Given the description of an element on the screen output the (x, y) to click on. 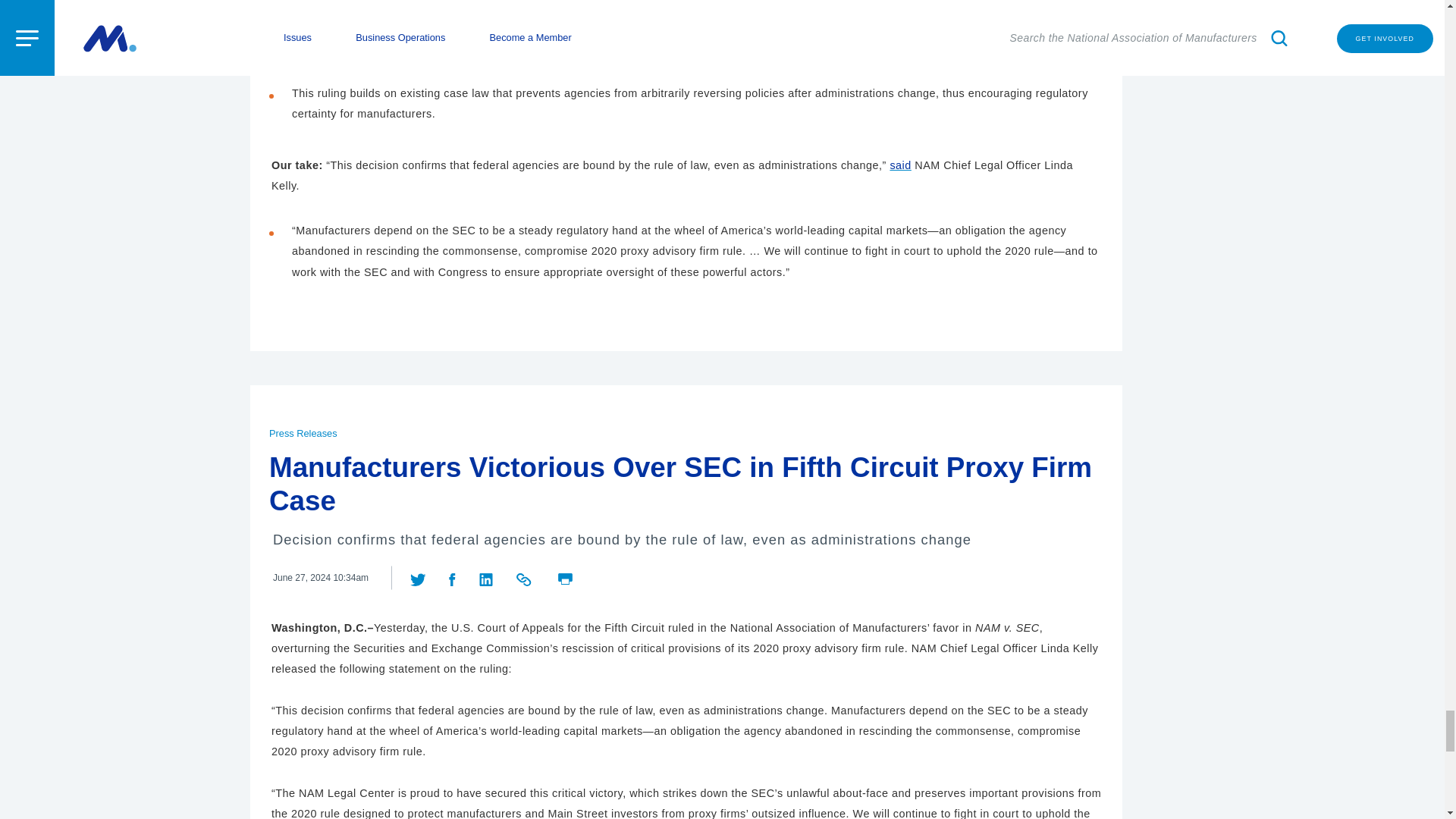
Thursday, June 27th at 10:34am (320, 578)
